Given the description of an element on the screen output the (x, y) to click on. 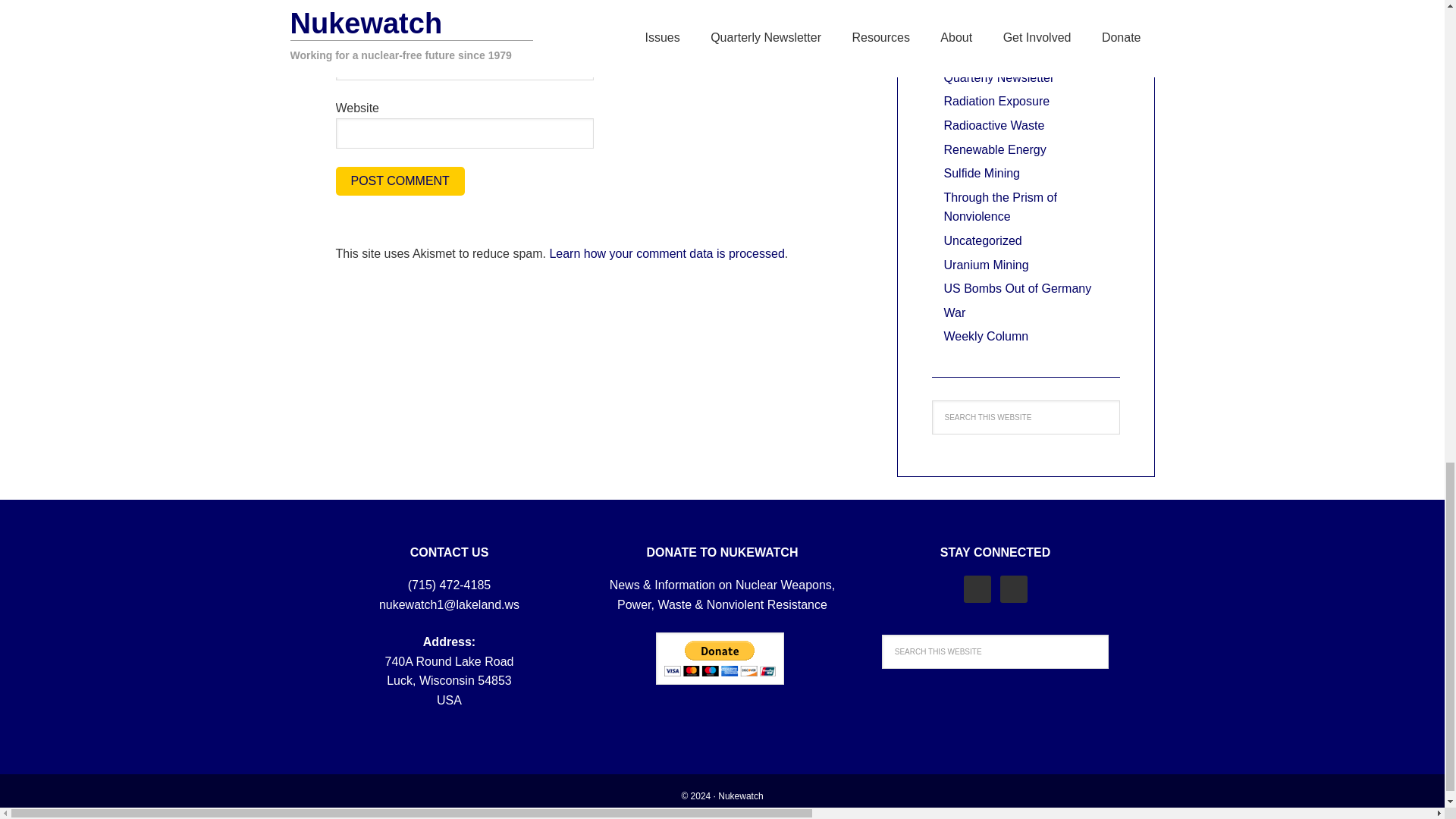
Post Comment (399, 181)
